Given the description of an element on the screen output the (x, y) to click on. 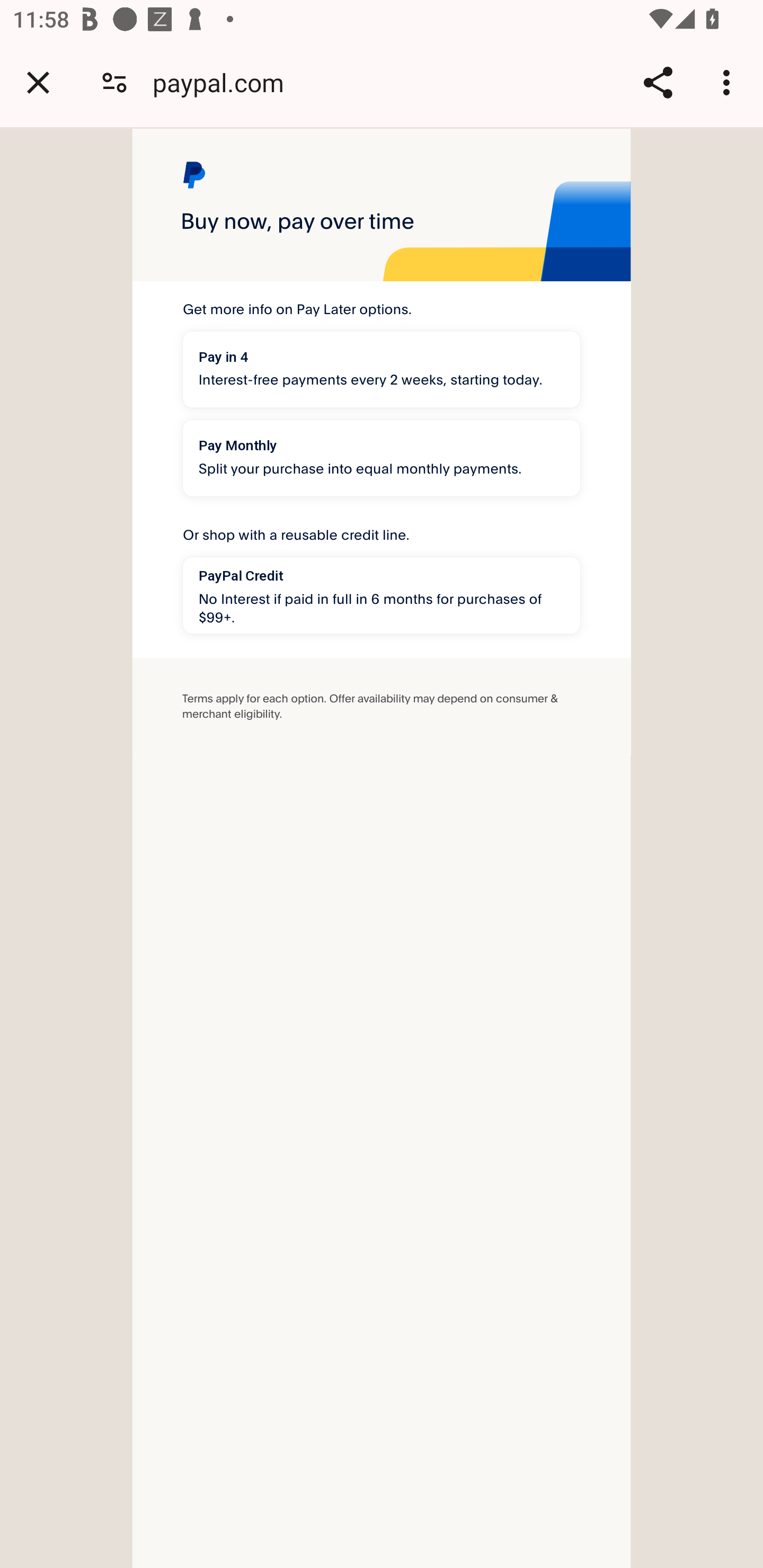
Close tab (38, 82)
Share (657, 82)
Customize and control Google Chrome (729, 82)
Connection is secure (114, 81)
paypal.com (224, 81)
